Given the description of an element on the screen output the (x, y) to click on. 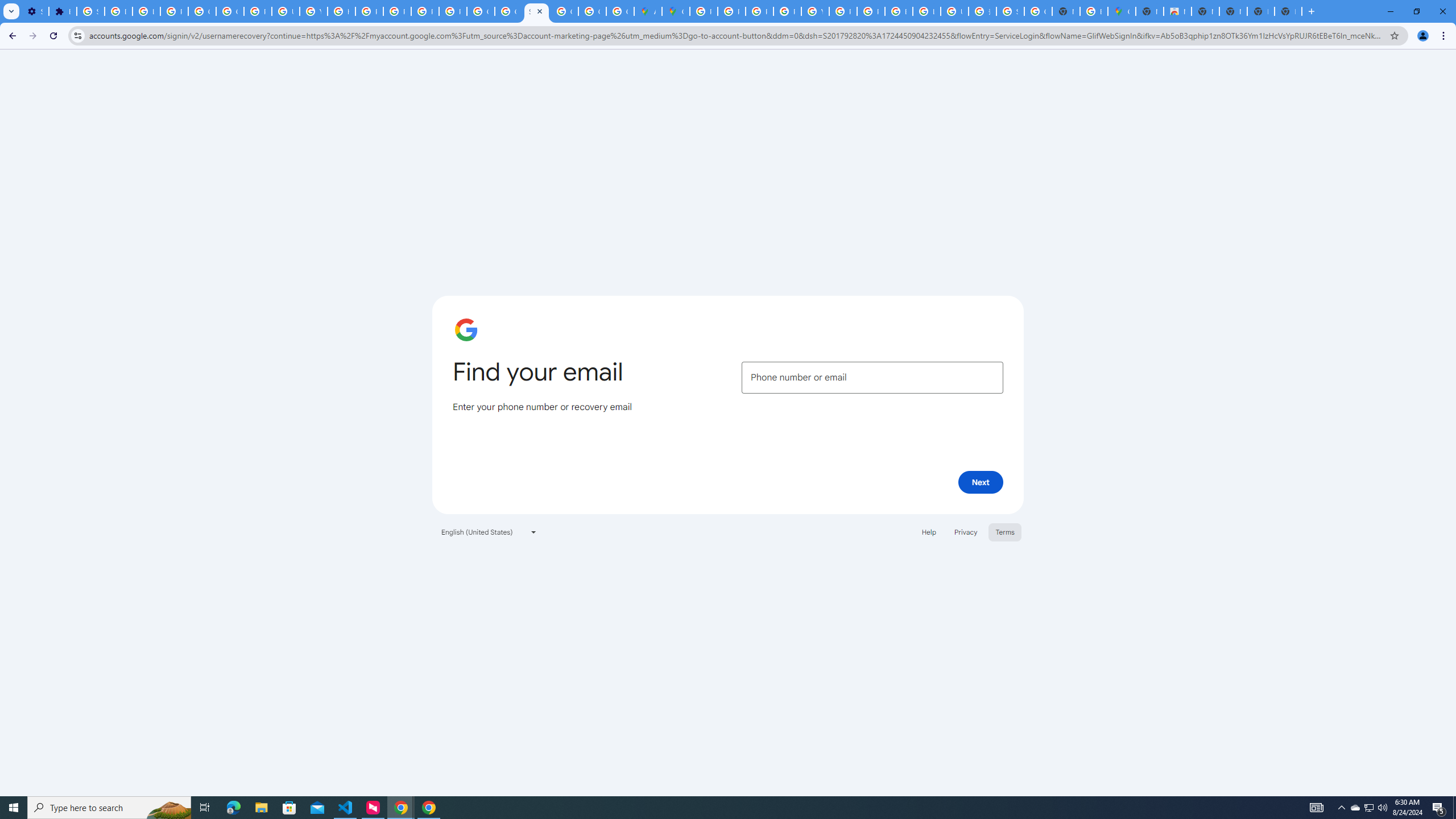
Help (928, 531)
Terms (1005, 531)
Next (980, 481)
Phone number or email (872, 377)
https://scholar.google.com/ (341, 11)
Explore new street-level details - Google Maps Help (1093, 11)
Google Account Help (229, 11)
Google Account Help (202, 11)
